Given the description of an element on the screen output the (x, y) to click on. 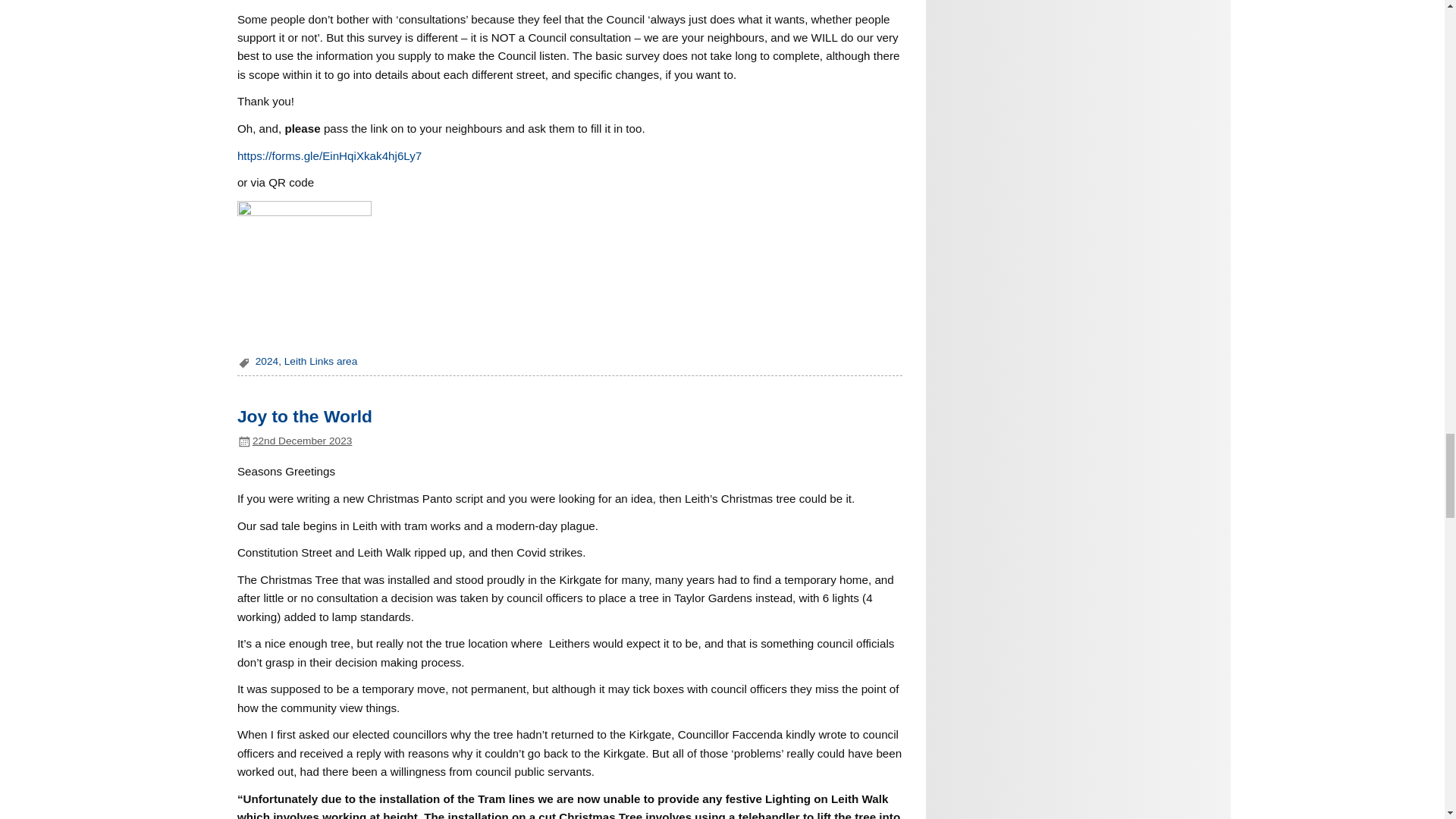
11:18 AM (301, 440)
